Given the description of an element on the screen output the (x, y) to click on. 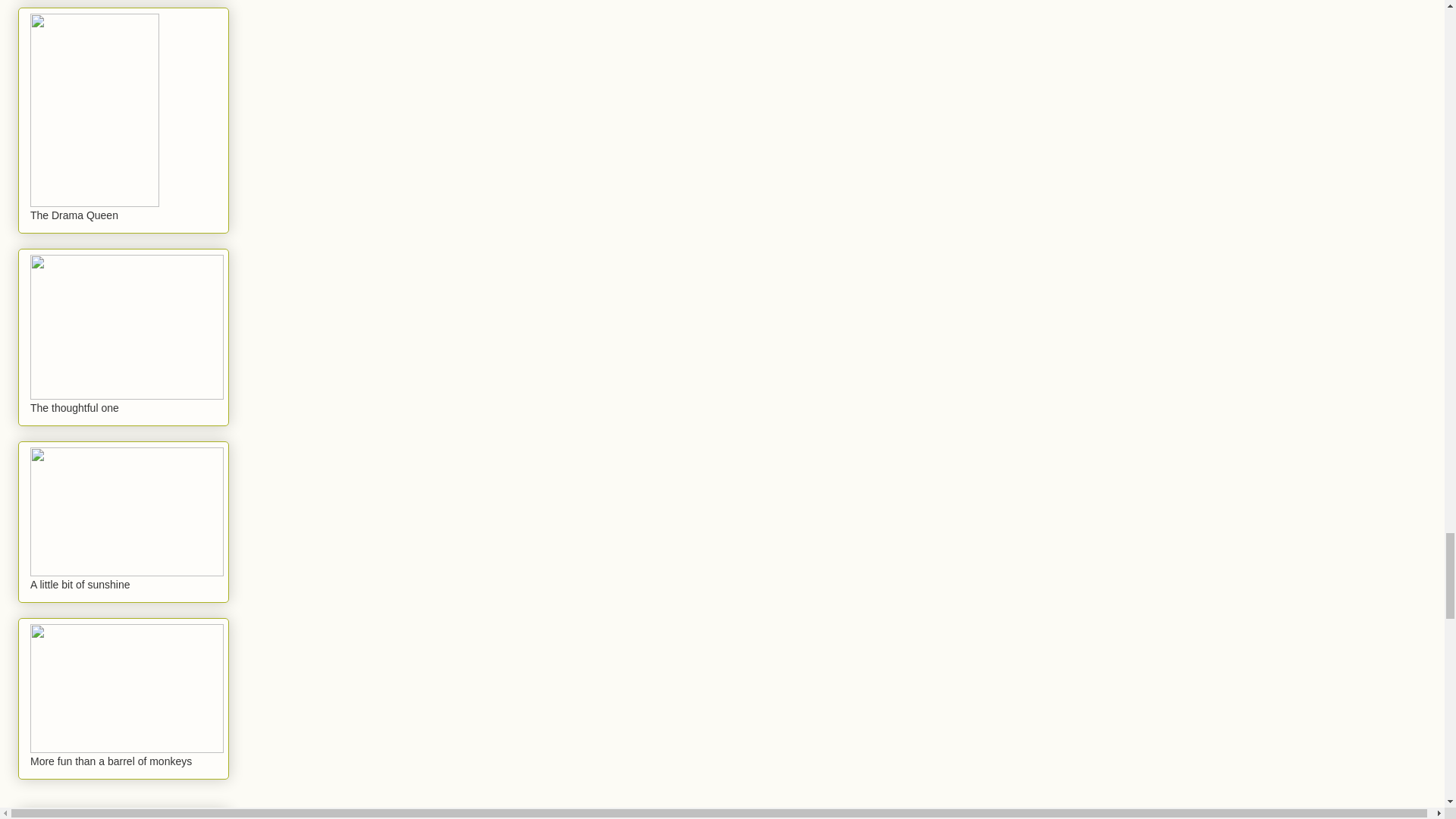
2017 (60, 815)
